Given the description of an element on the screen output the (x, y) to click on. 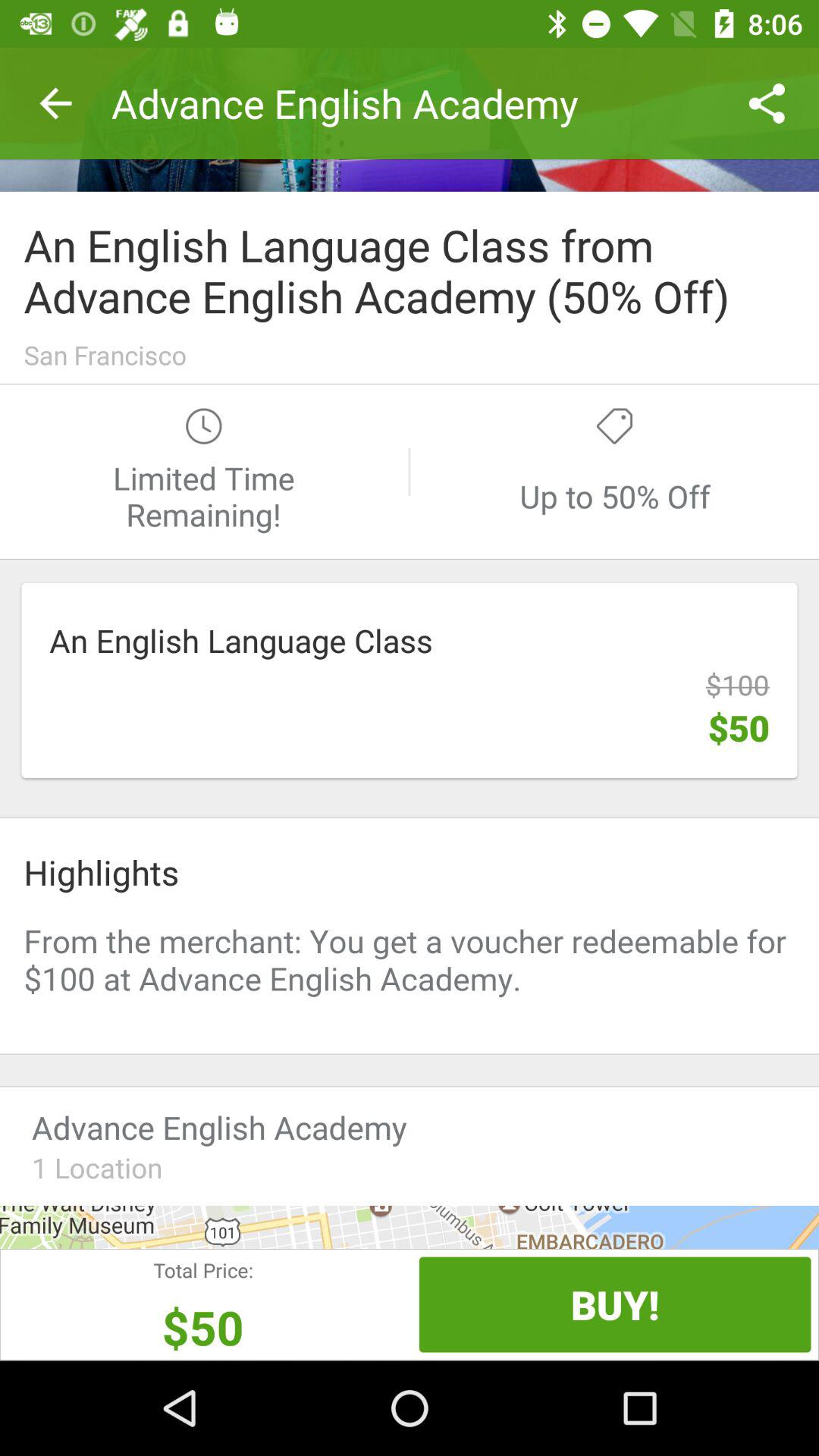
go to share (409, 119)
